Given the description of an element on the screen output the (x, y) to click on. 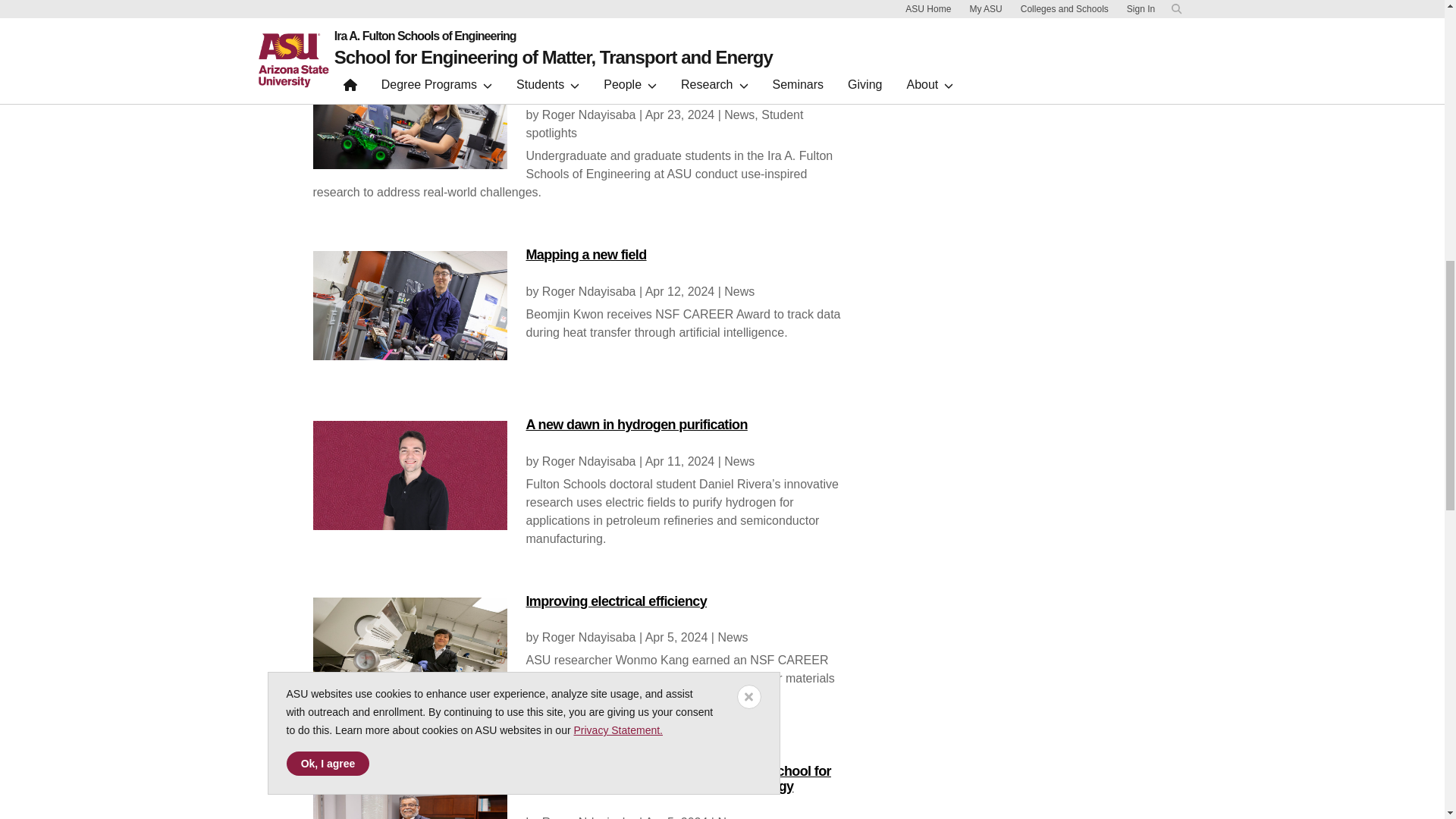
Posts by Roger Ndayisaba (588, 114)
